Given the description of an element on the screen output the (x, y) to click on. 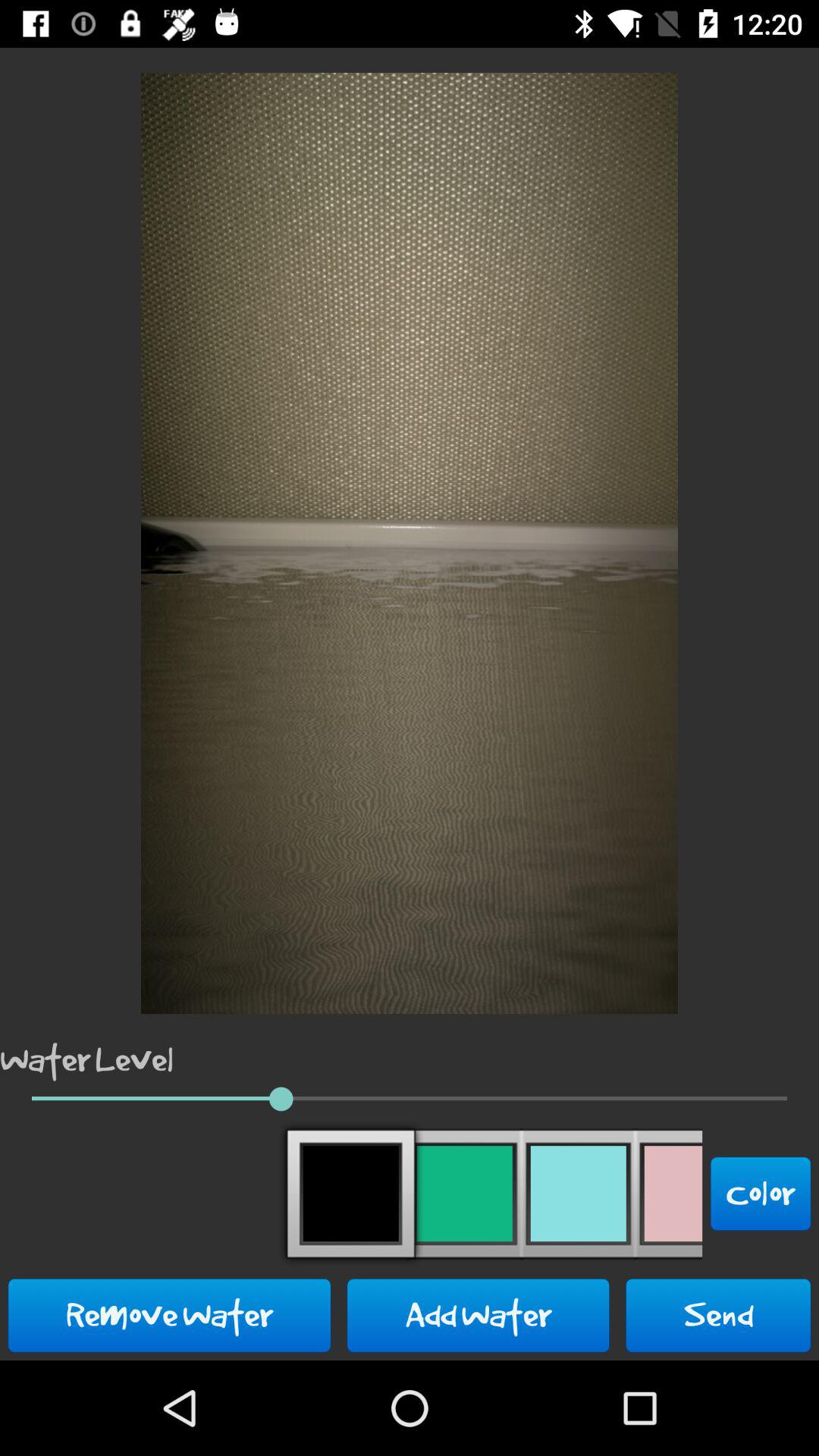
launch the icon next to the send item (477, 1315)
